Given the description of an element on the screen output the (x, y) to click on. 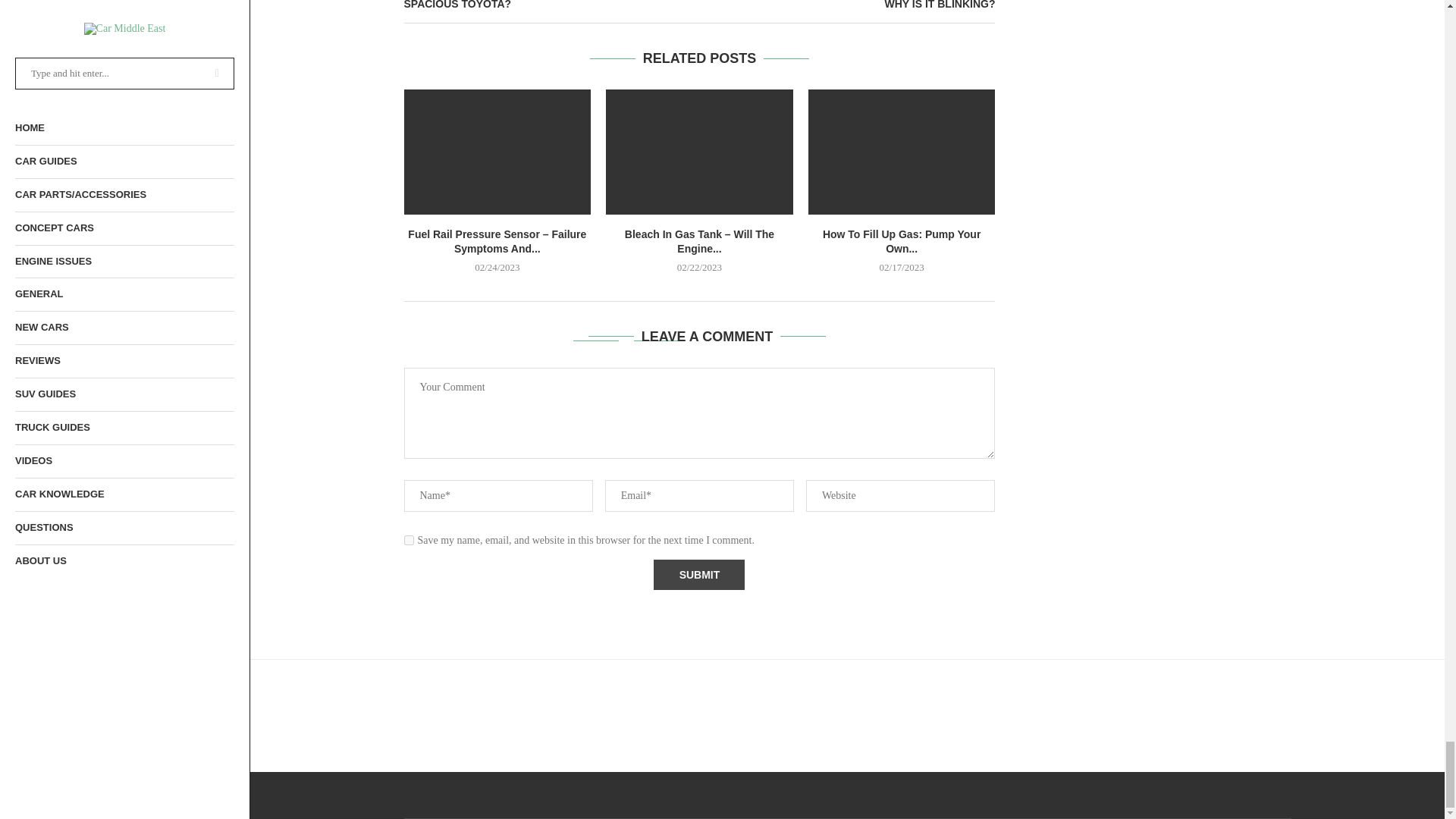
Submit (698, 574)
How To Fill Up Gas: Pump Your Own Fuel Tank At A Gas Station (901, 151)
yes (408, 540)
